Given the description of an element on the screen output the (x, y) to click on. 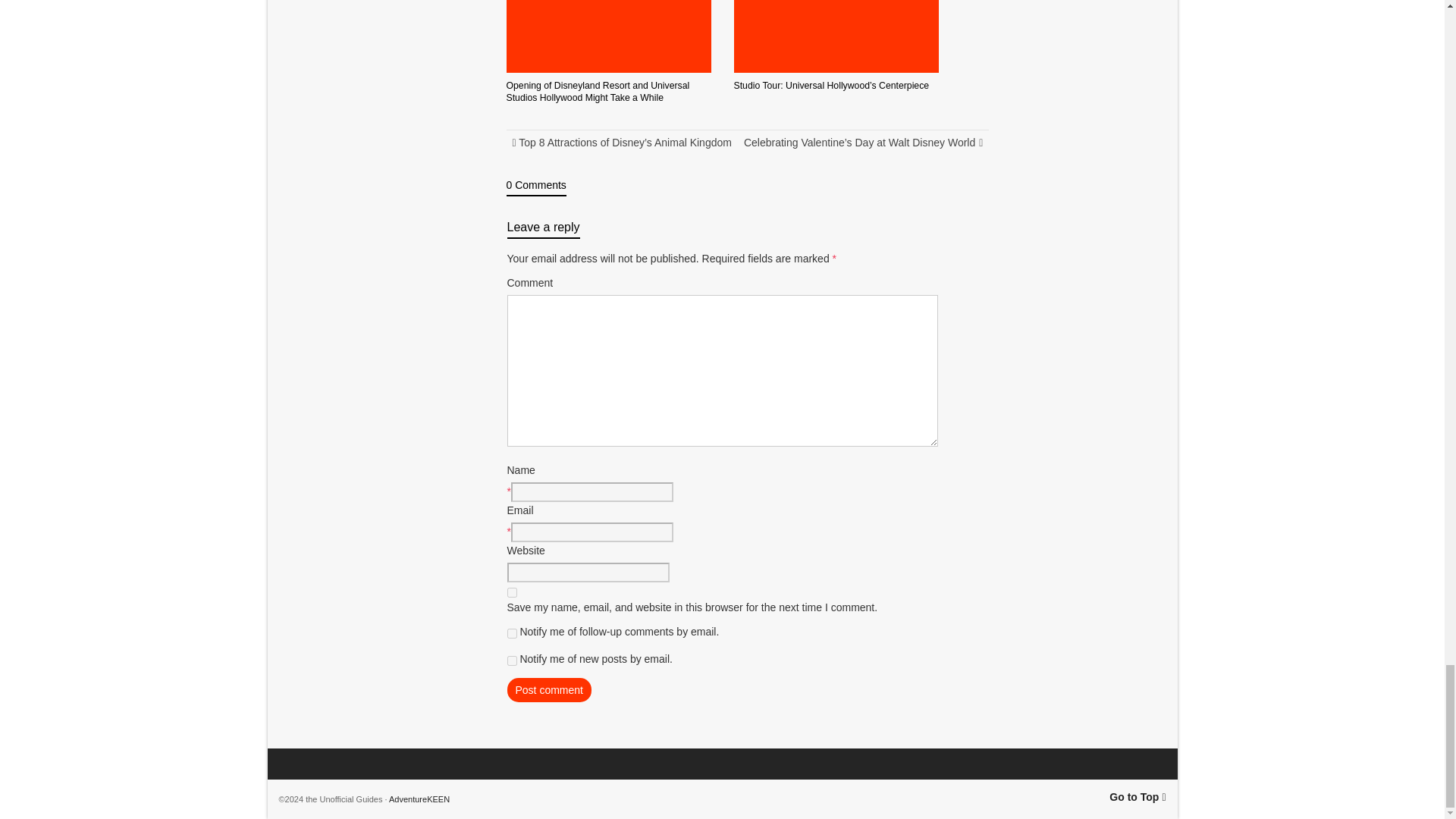
Post comment (548, 689)
subscribe (511, 660)
subscribe (511, 633)
yes (511, 592)
